Given the description of an element on the screen output the (x, y) to click on. 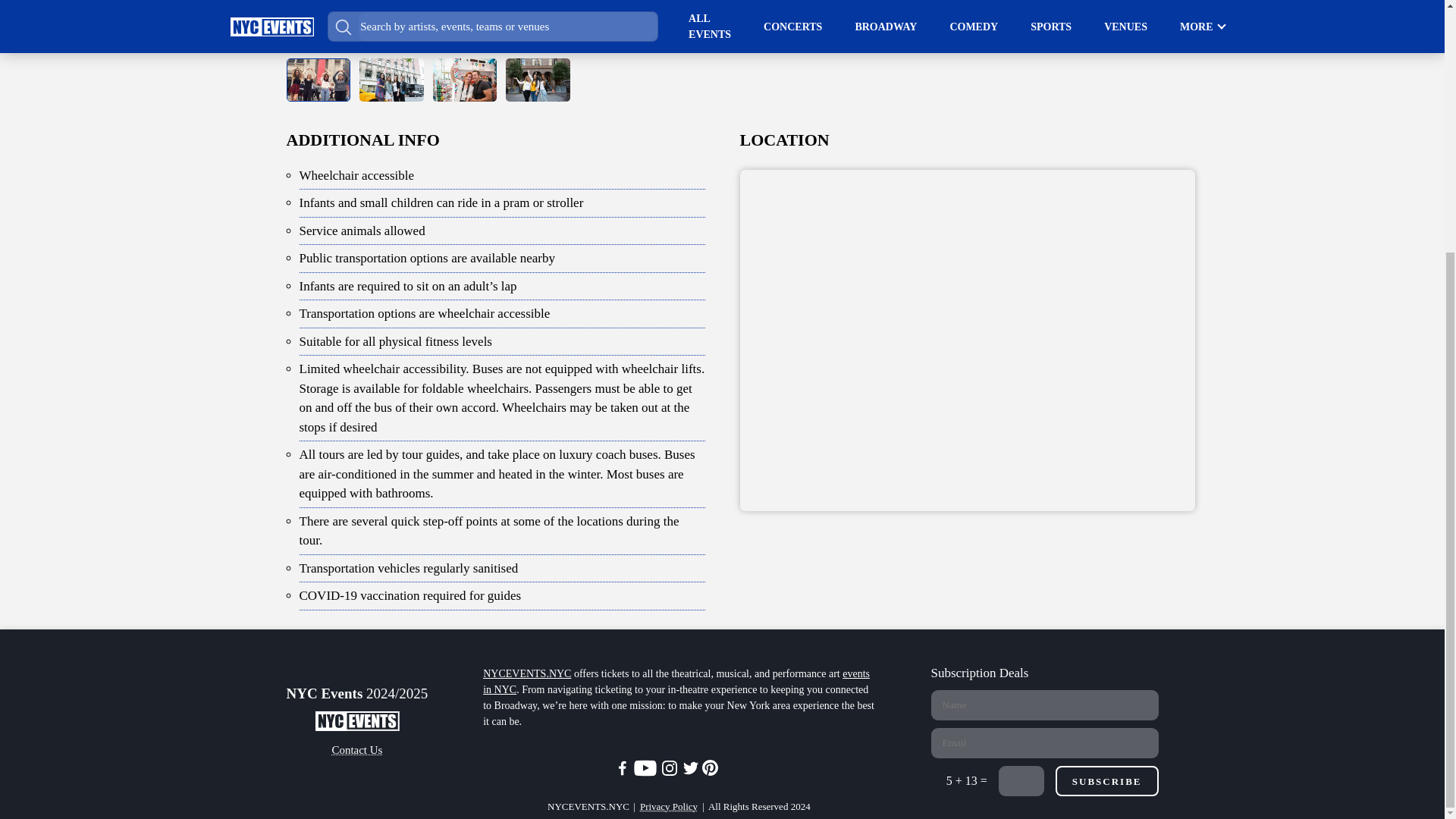
Privacy Policy (668, 806)
NYCEVENTS.NYC (526, 673)
Contact Us (356, 751)
events in NYC (676, 681)
